Given the description of an element on the screen output the (x, y) to click on. 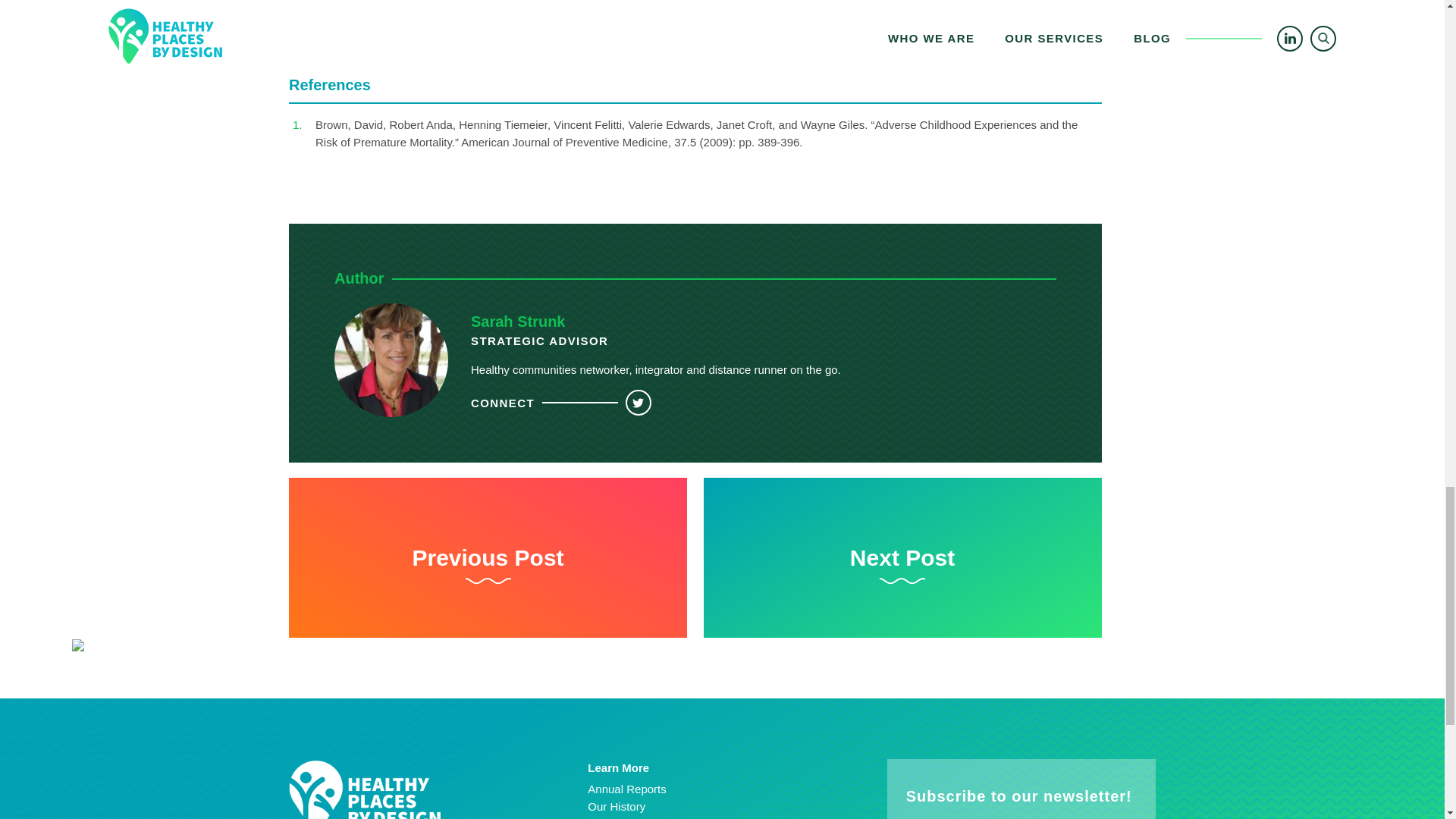
Sarah Strunk (517, 321)
Previous Post (488, 557)
